Given the description of an element on the screen output the (x, y) to click on. 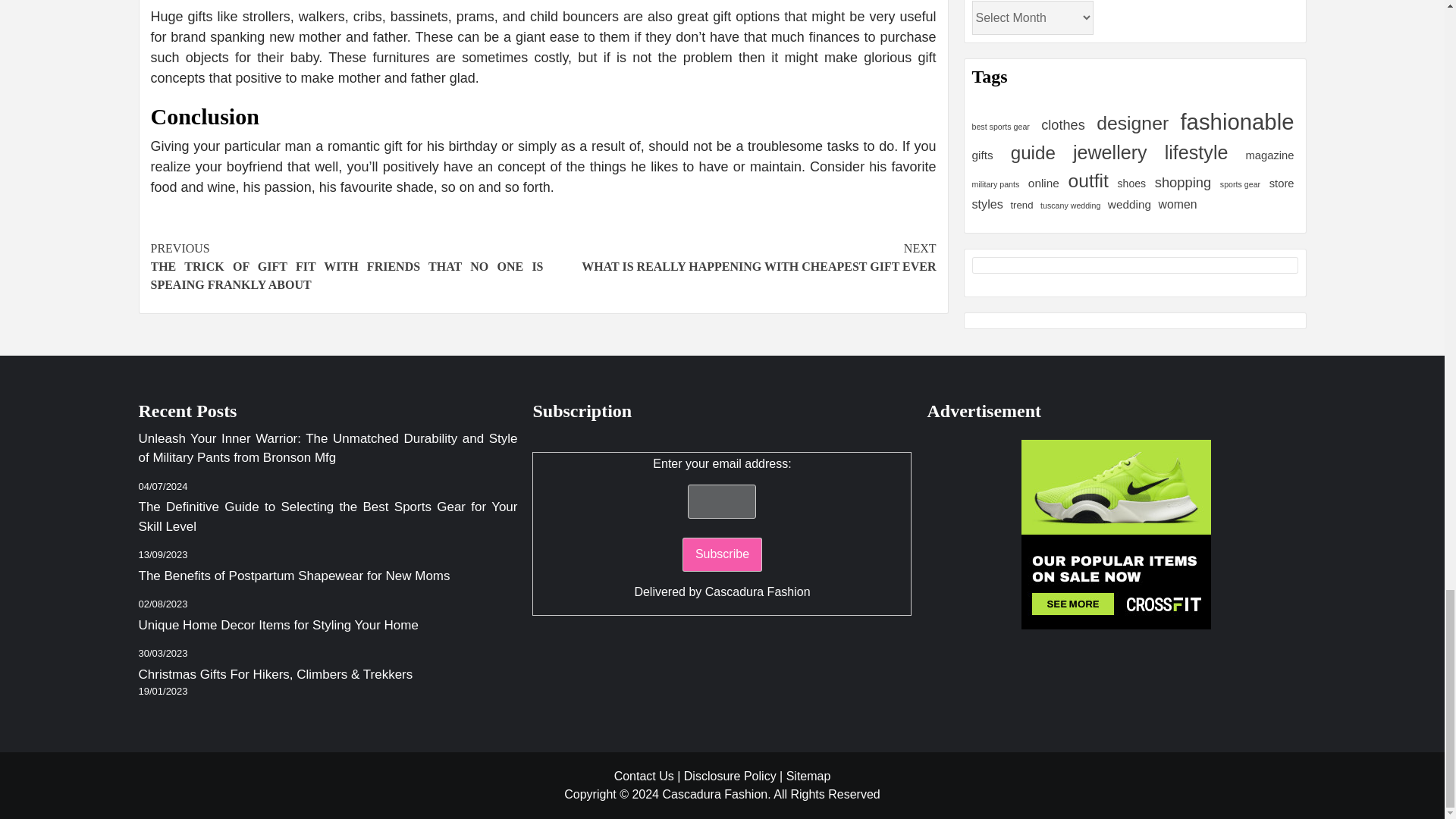
Old Business (1116, 534)
Subscribe (721, 554)
